Given the description of an element on the screen output the (x, y) to click on. 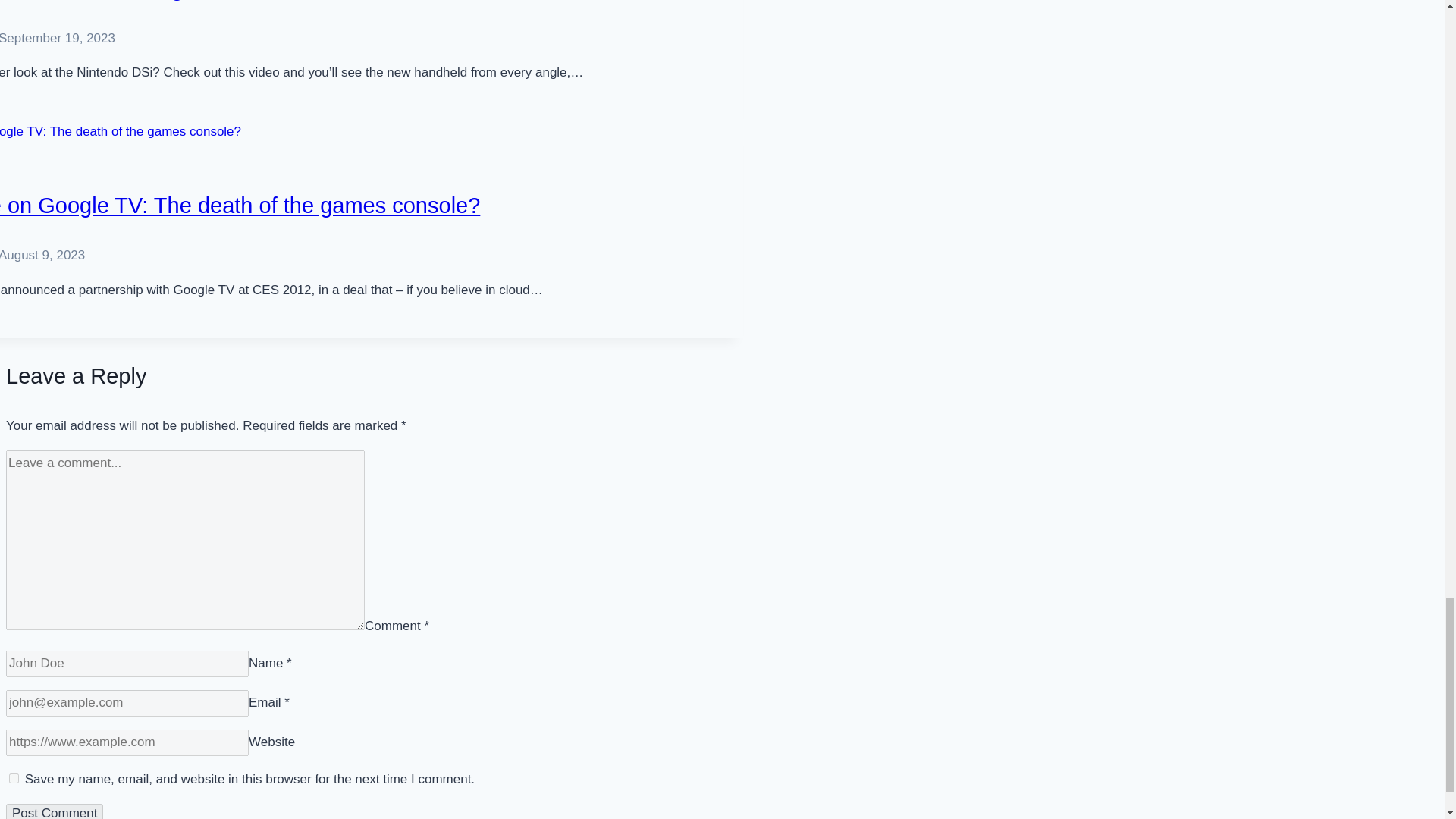
yes (13, 777)
OnLive on Google TV: The death of the games console? (240, 205)
